Given the description of an element on the screen output the (x, y) to click on. 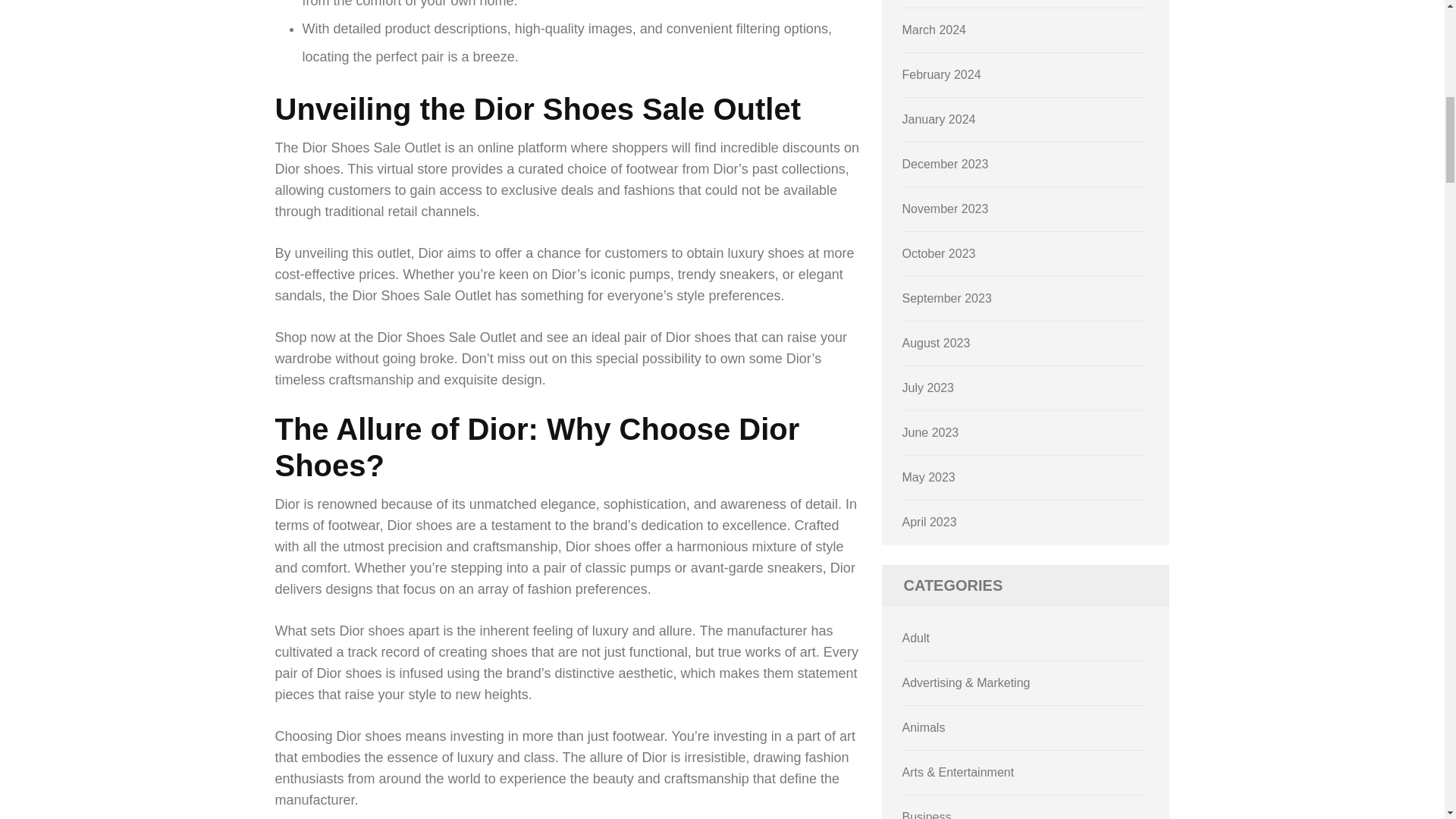
June 2023 (930, 431)
October 2023 (938, 253)
December 2023 (945, 164)
January 2024 (938, 119)
Adult (916, 637)
September 2023 (946, 297)
August 2023 (936, 342)
May 2023 (928, 477)
July 2023 (928, 387)
April 2023 (929, 521)
February 2024 (941, 74)
March 2024 (934, 29)
November 2023 (945, 208)
